Given the description of an element on the screen output the (x, y) to click on. 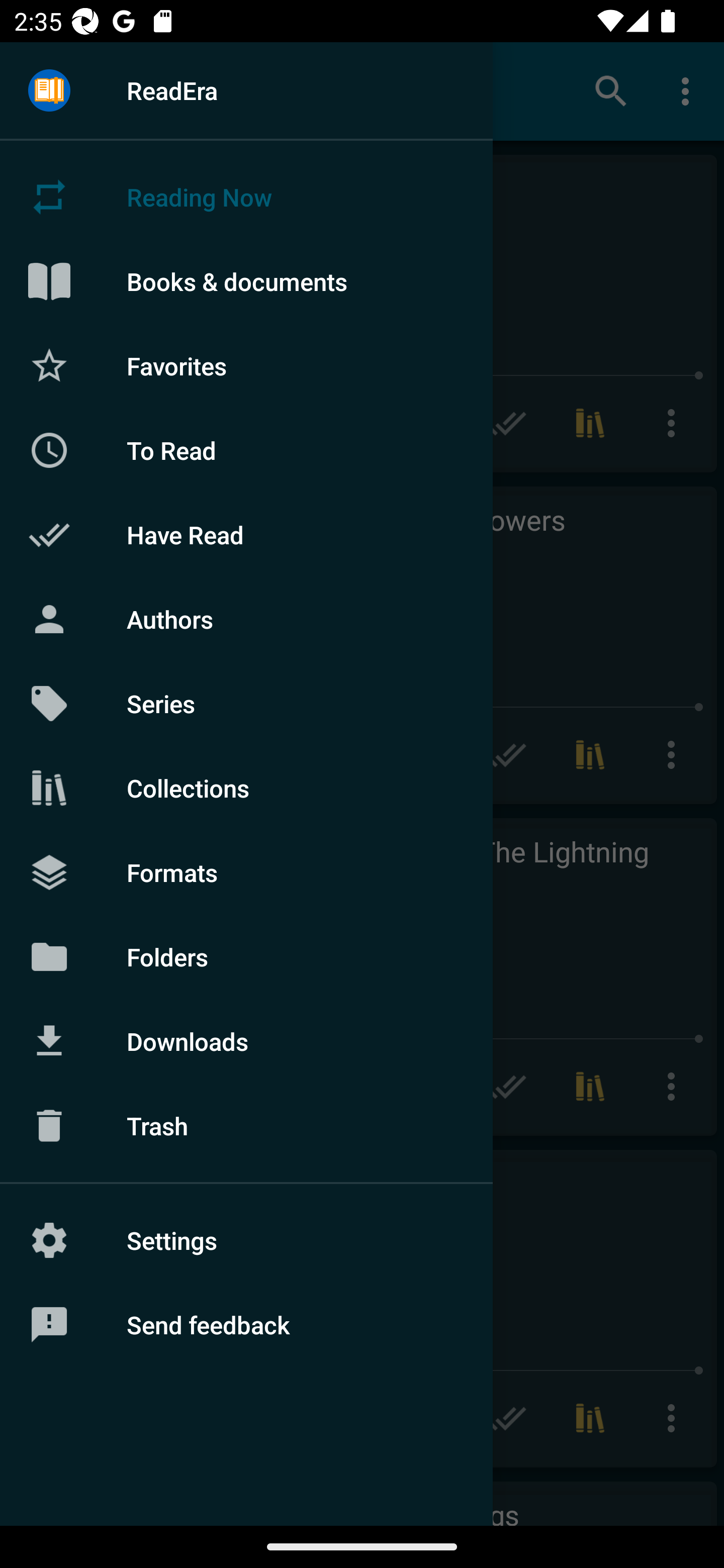
Menu (49, 91)
ReadEra (246, 89)
Search books & documents (611, 90)
More options (688, 90)
Reading Now (246, 197)
Books & documents (246, 281)
Favorites (246, 365)
To Read (246, 449)
Have Read (246, 534)
Authors (246, 619)
Series (246, 703)
Collections (246, 787)
Formats (246, 871)
Folders (246, 956)
Downloads (246, 1040)
Trash (246, 1125)
Settings (246, 1239)
Send feedback (246, 1324)
